Given the description of an element on the screen output the (x, y) to click on. 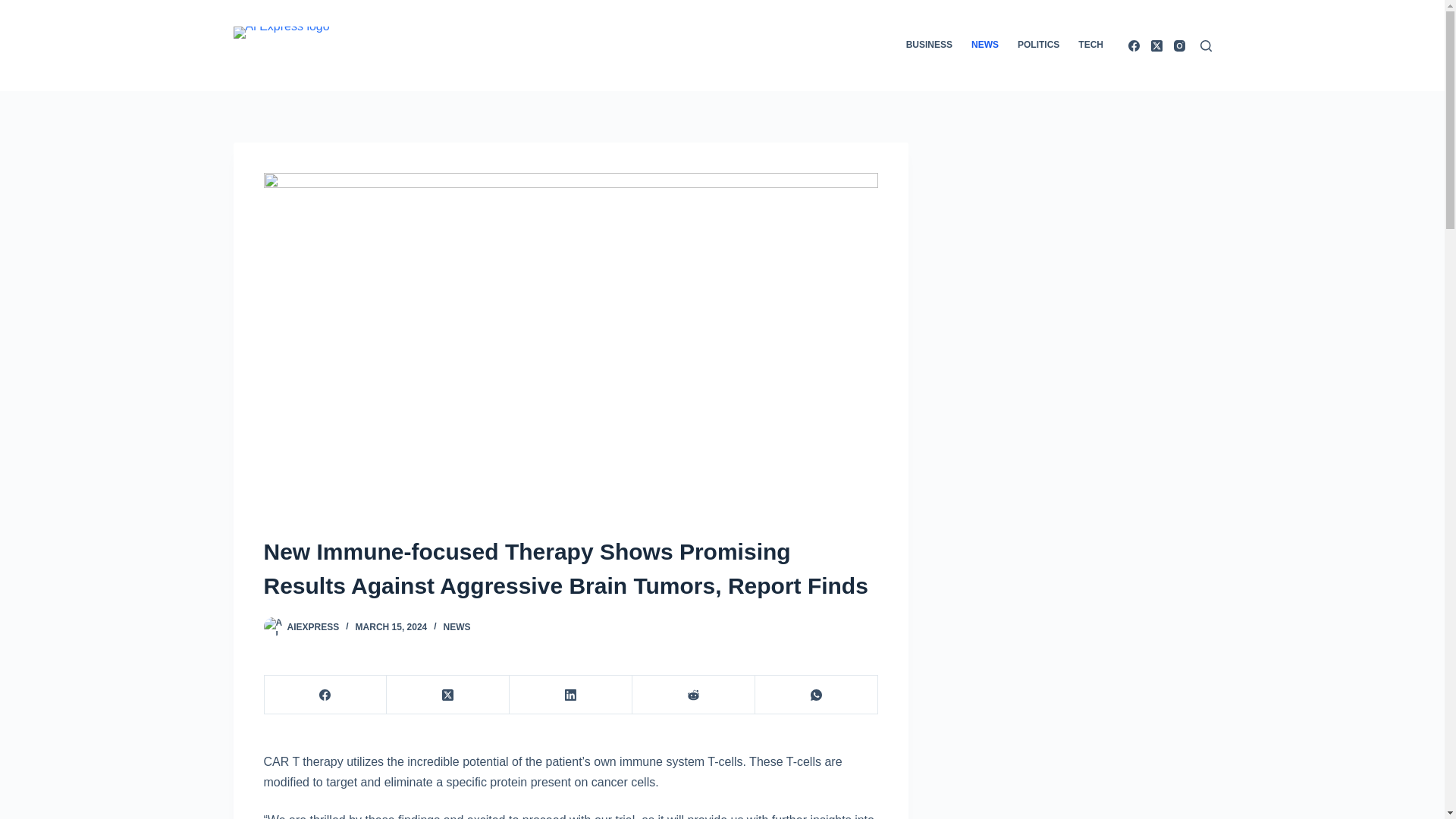
NEWS (457, 626)
Posts by aiexpress (312, 626)
Skip to content (15, 7)
AIEXPRESS (312, 626)
